Given the description of an element on the screen output the (x, y) to click on. 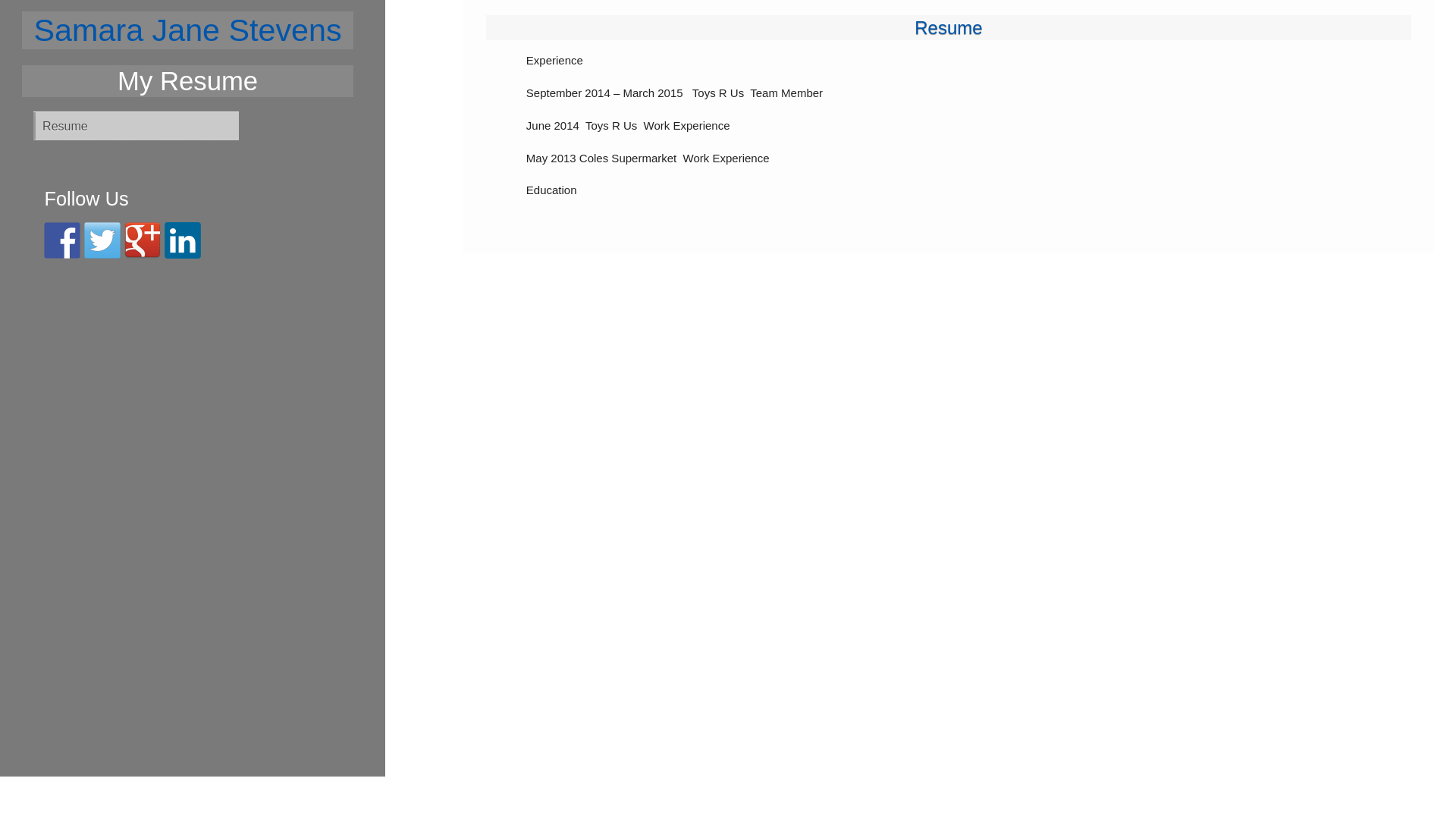
Follow us on Google+ Element type: hover (142, 240)
Samara Jane Stevens Element type: text (188, 29)
Resume Element type: text (135, 126)
Resume Element type: text (948, 27)
Follow us on Facebook Element type: hover (61, 240)
Find us on Linkedin Element type: hover (182, 240)
Follow us on Twitter Element type: hover (102, 240)
